Given the description of an element on the screen output the (x, y) to click on. 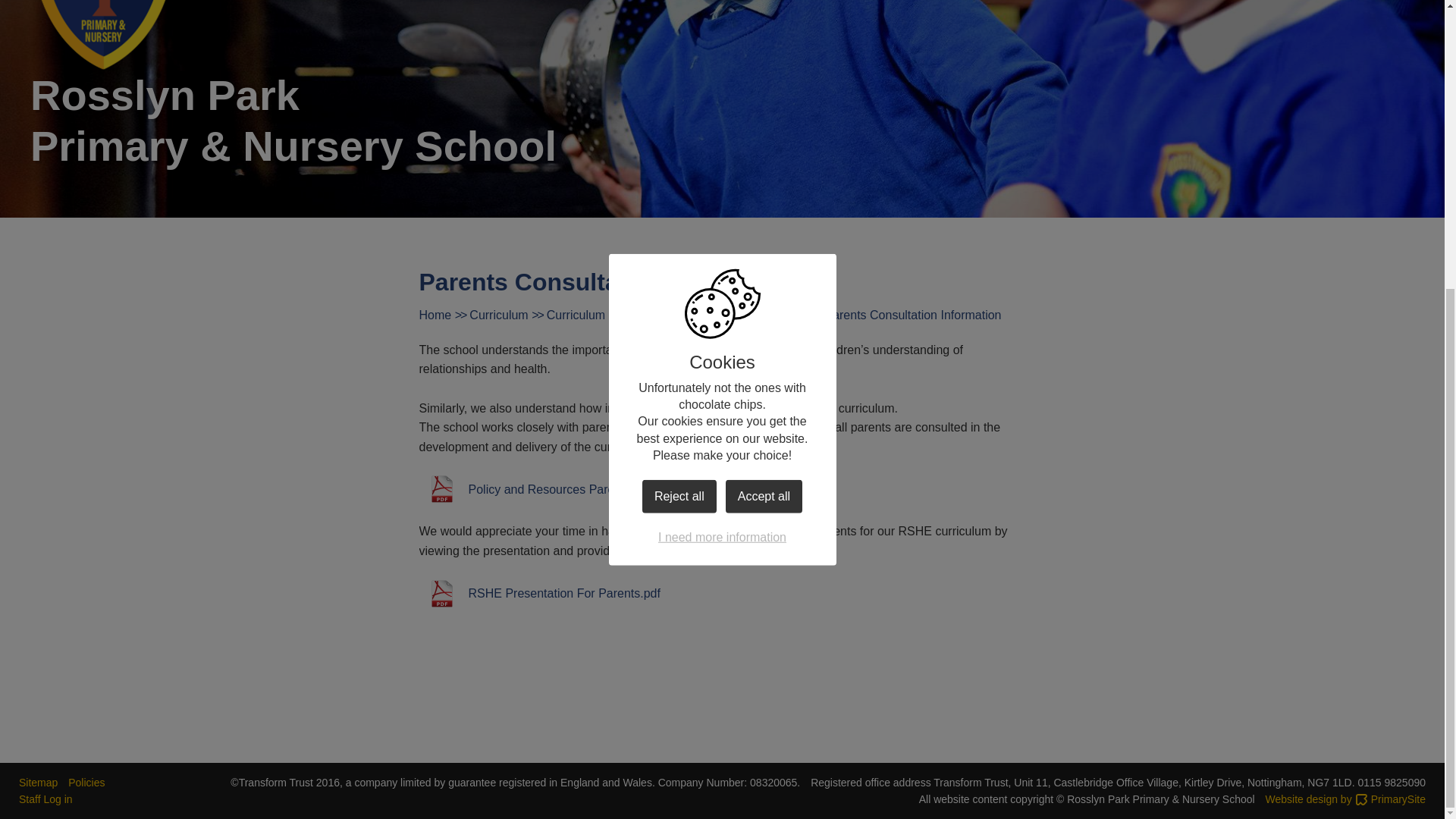
Home Page (103, 34)
